Given the description of an element on the screen output the (x, y) to click on. 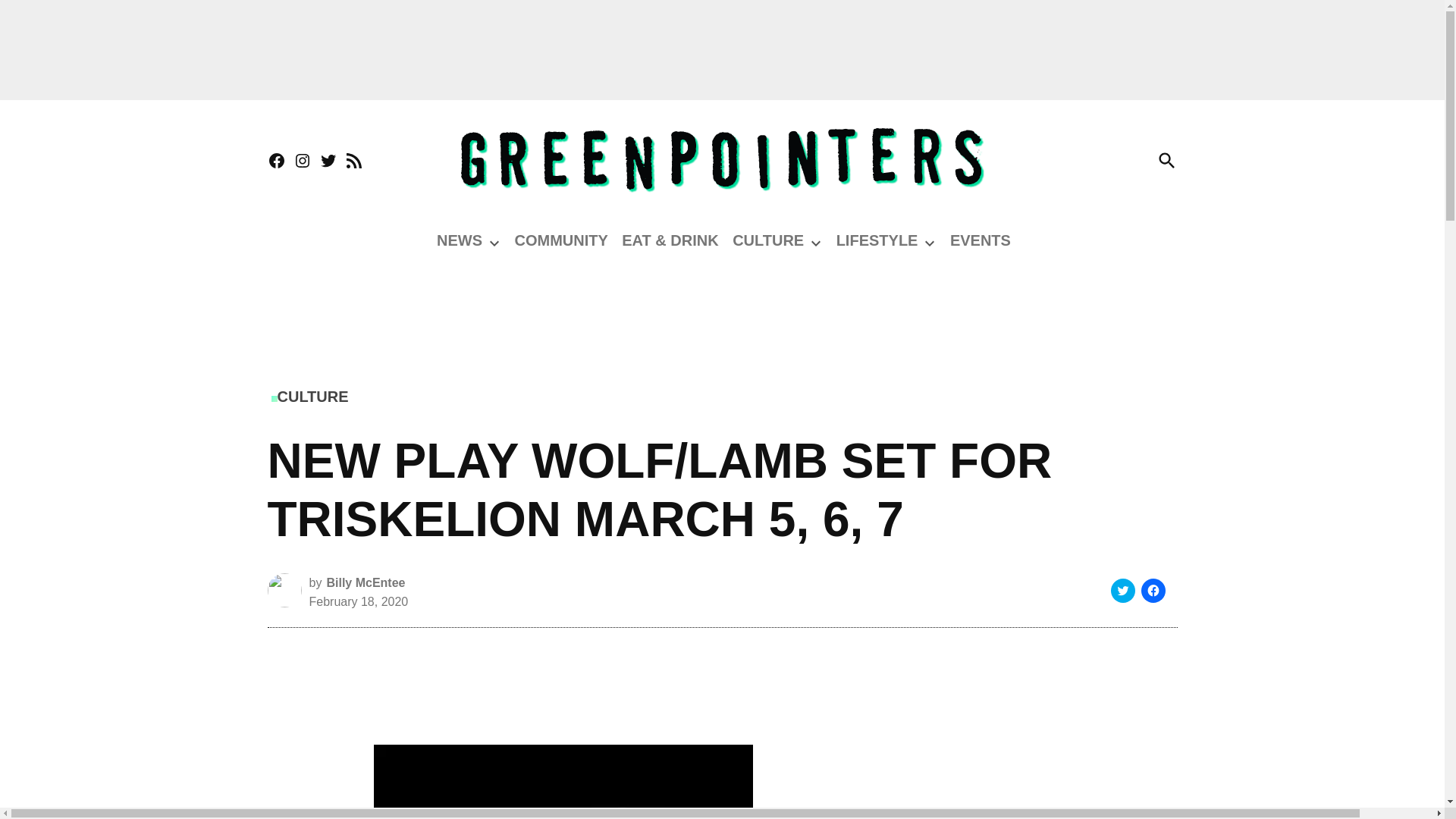
3rd party ad content (721, 49)
INSTAGRAM (301, 160)
NEWS (458, 240)
Open dropdown menu (815, 243)
Click to share on Twitter (1121, 590)
Click to share on Facebook (1152, 590)
COMMUNITY (560, 240)
CULTURE (767, 240)
TWITTER (327, 160)
3rd party ad content (721, 310)
3rd party ad content (1040, 748)
3rd party ad content (562, 673)
Greenpointers (1255, 170)
FACEBOOK (275, 160)
Open dropdown menu (493, 243)
